Given the description of an element on the screen output the (x, y) to click on. 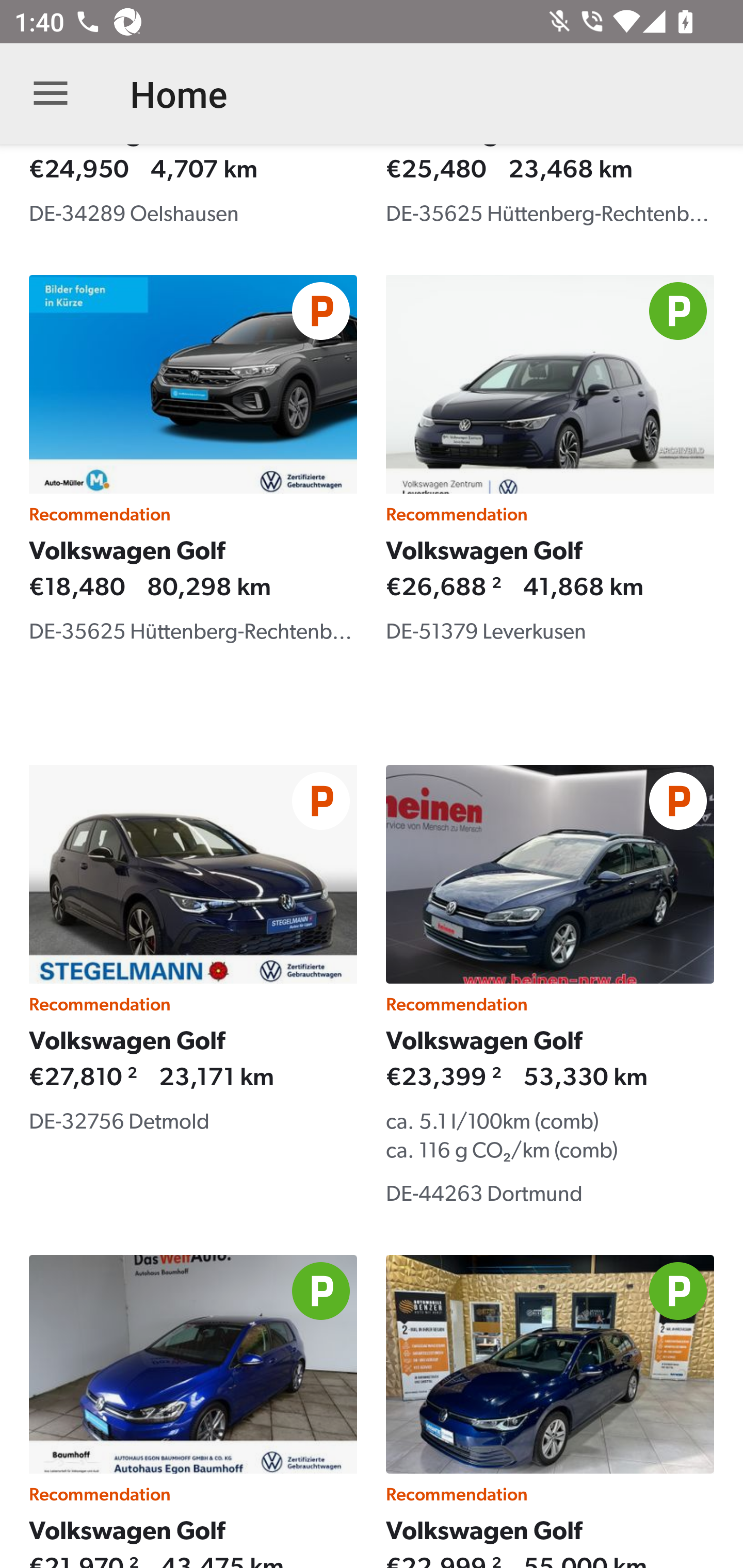
Open navigation bar (50, 93)
Recommendation Volkswagen Golf €21,970 ² 43,475 km (192, 1411)
Recommendation Volkswagen Golf €22,999 ² 55,000 km (549, 1411)
